Given the description of an element on the screen output the (x, y) to click on. 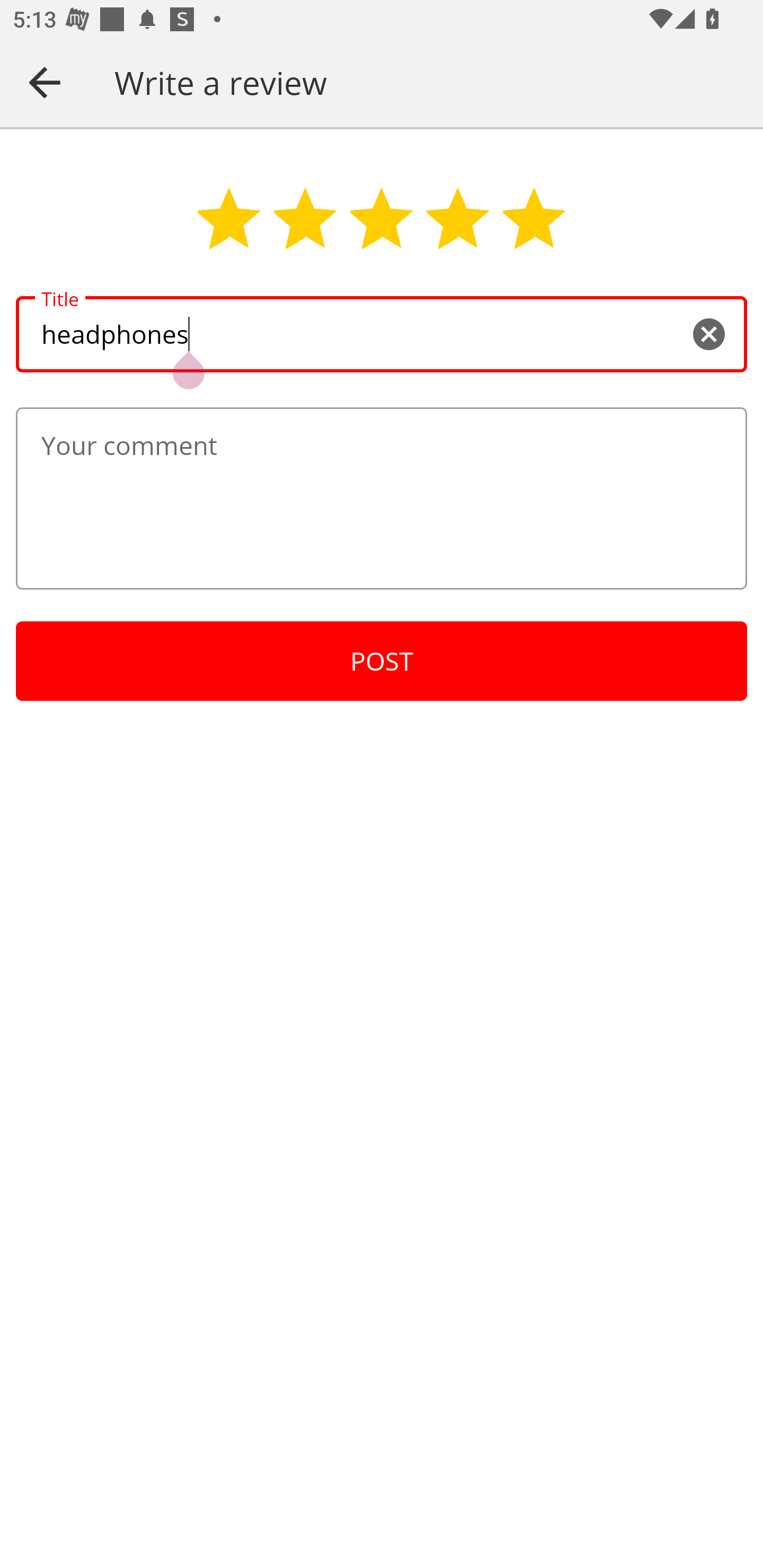
Navigate up (44, 82)
headphones (381, 334)
Clear text (708, 334)
Your comment (381, 498)
POST (381, 660)
